Given the description of an element on the screen output the (x, y) to click on. 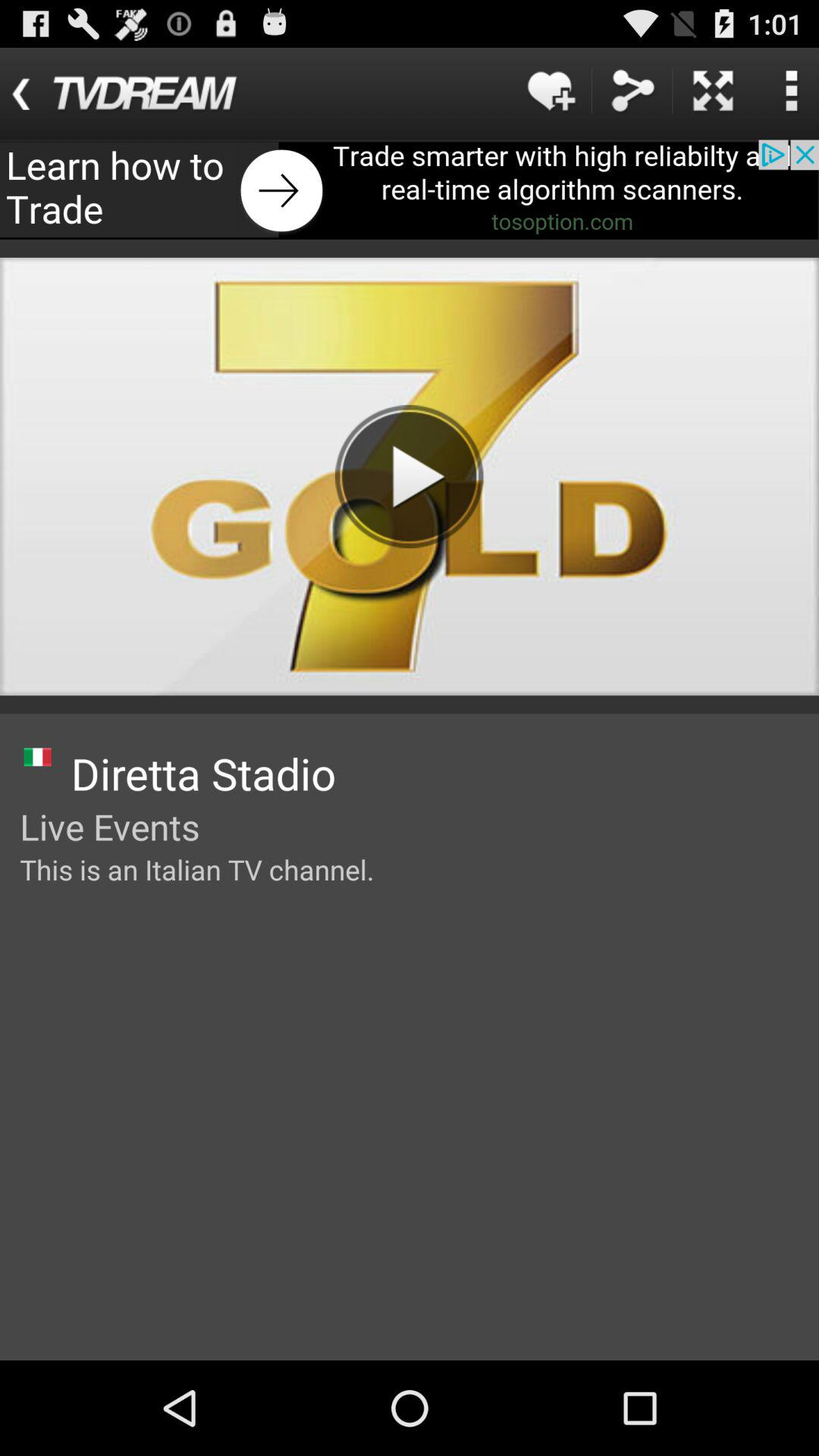
share (632, 90)
